Given the description of an element on the screen output the (x, y) to click on. 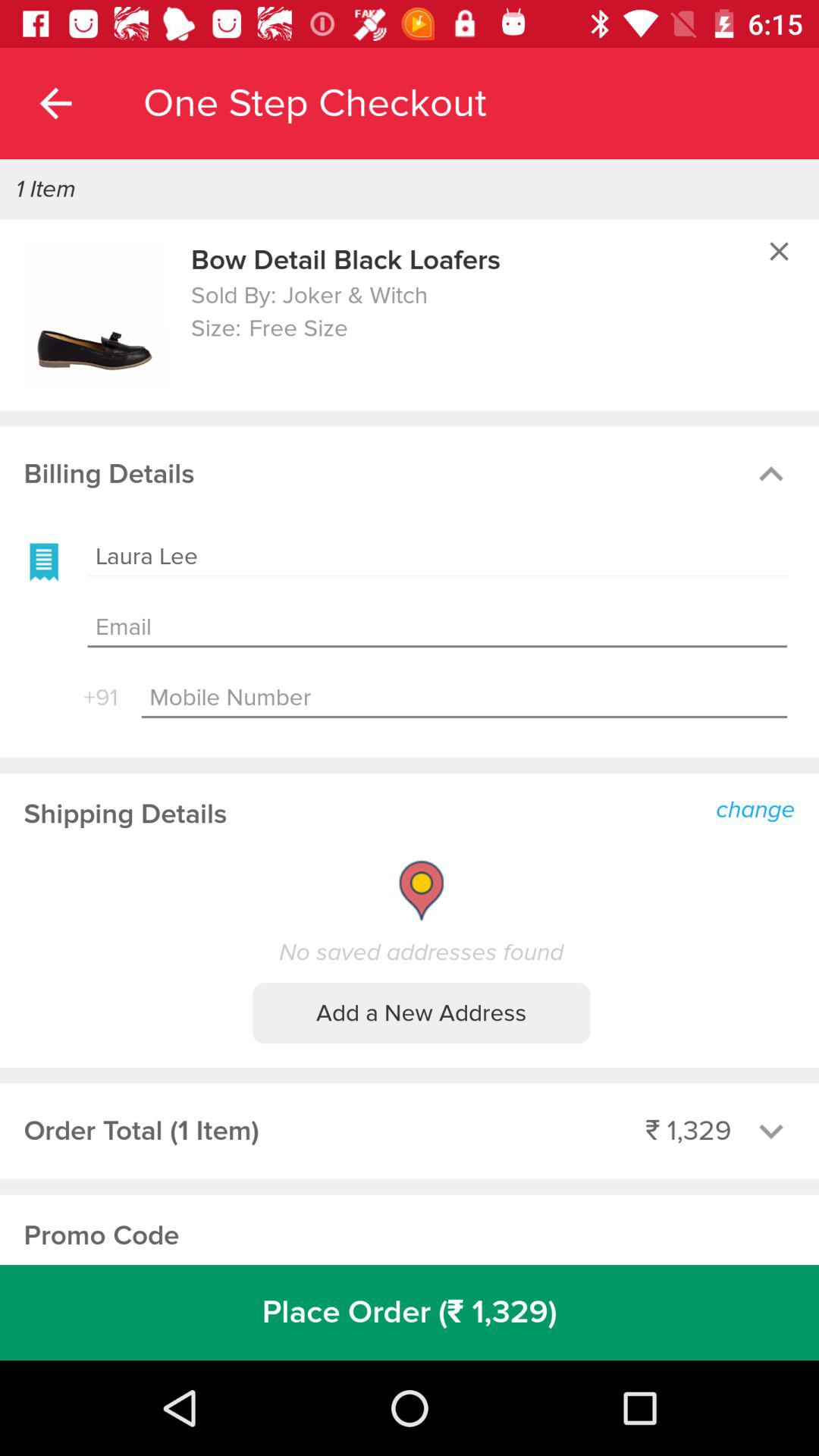
click icon to the right of sold by joker icon (779, 251)
